Given the description of an element on the screen output the (x, y) to click on. 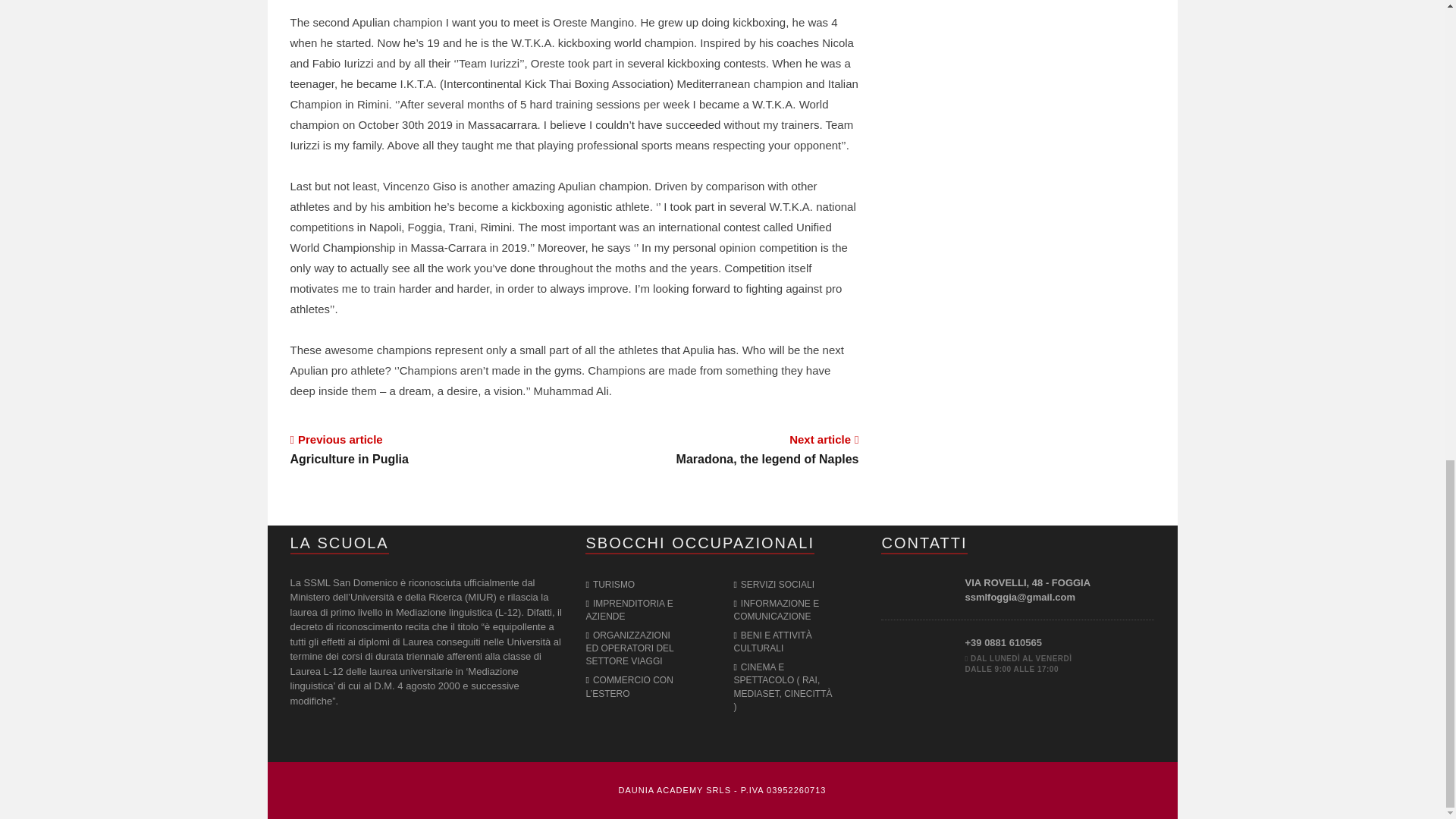
SERVIZI SOCIALI (773, 584)
TURISMO (431, 448)
IMPRENDITORIA E AZIENDE (717, 448)
INFORMAZIONE E COMUNICAZIONE (609, 584)
ORGANIZZAZIONI ED OPERATORI DEL SETTORE VIAGGI (628, 609)
